Given the description of an element on the screen output the (x, y) to click on. 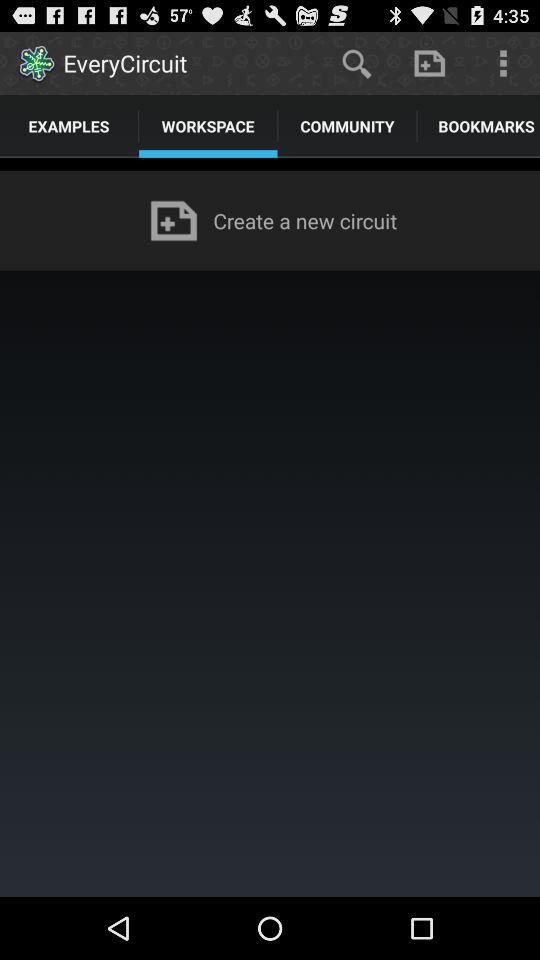
turn off the create a new app (309, 220)
